Given the description of an element on the screen output the (x, y) to click on. 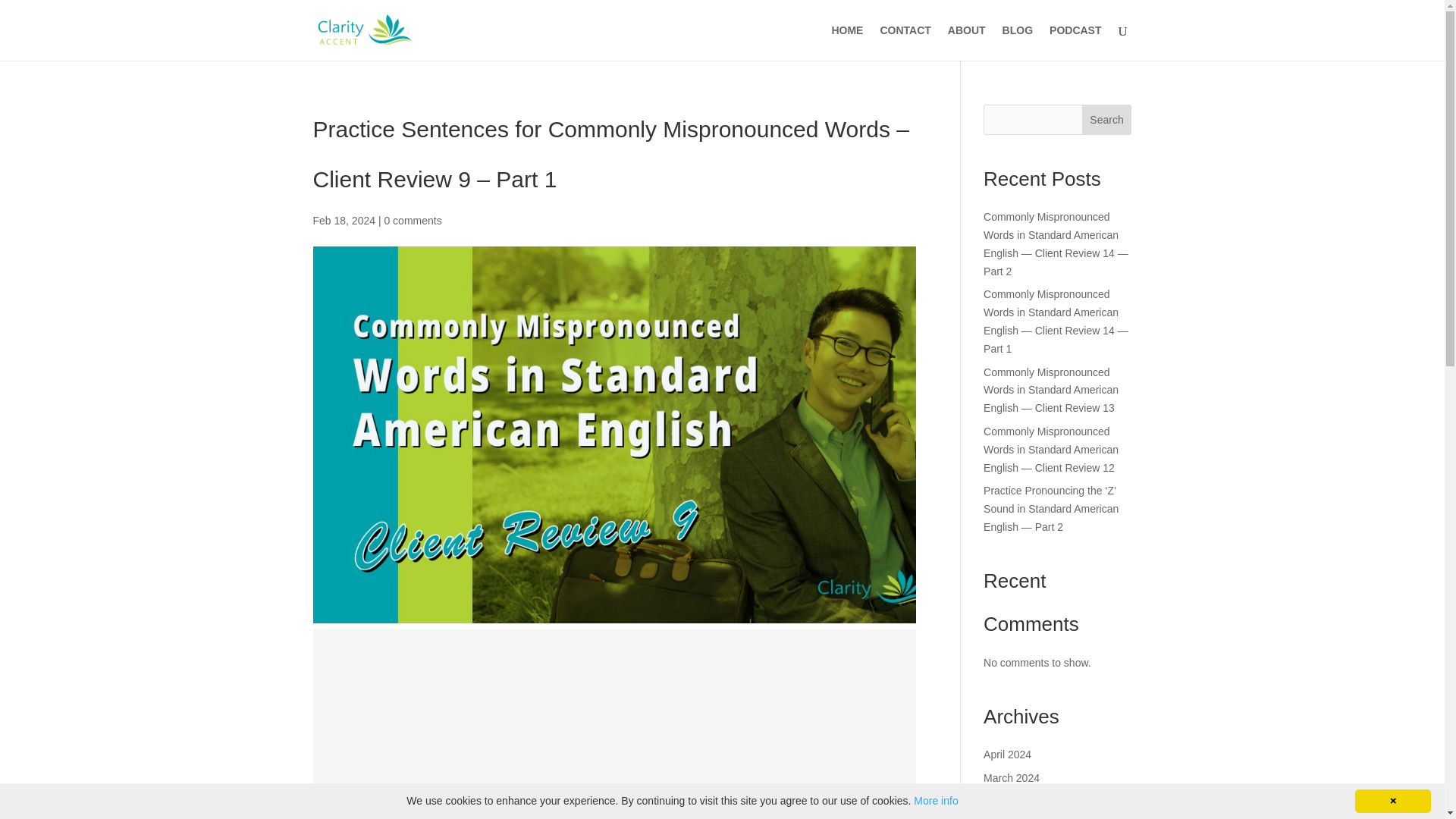
March 2024 (1011, 777)
0 comments (412, 220)
PODCAST (1074, 42)
CONTACT (904, 42)
February 2024 (1018, 801)
HOME (847, 42)
Search (1106, 119)
April 2024 (1007, 754)
ABOUT (966, 42)
